Given the description of an element on the screen output the (x, y) to click on. 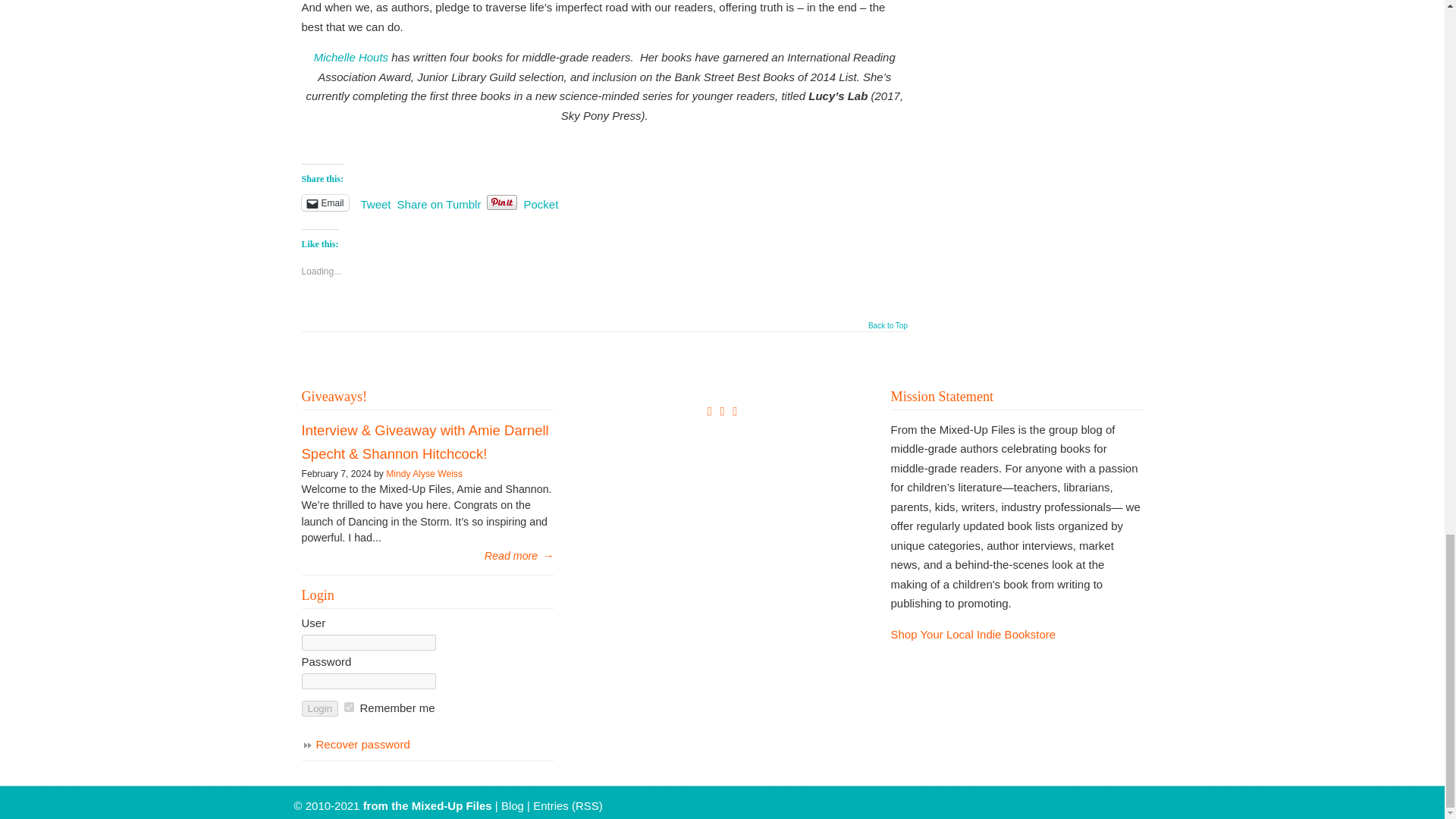
Top of Page (887, 329)
forever (348, 706)
Posts by Mindy Alyse Weiss (424, 473)
Share on Tumblr (439, 201)
Click to email a link to a friend (325, 202)
Login (320, 708)
